Given the description of an element on the screen output the (x, y) to click on. 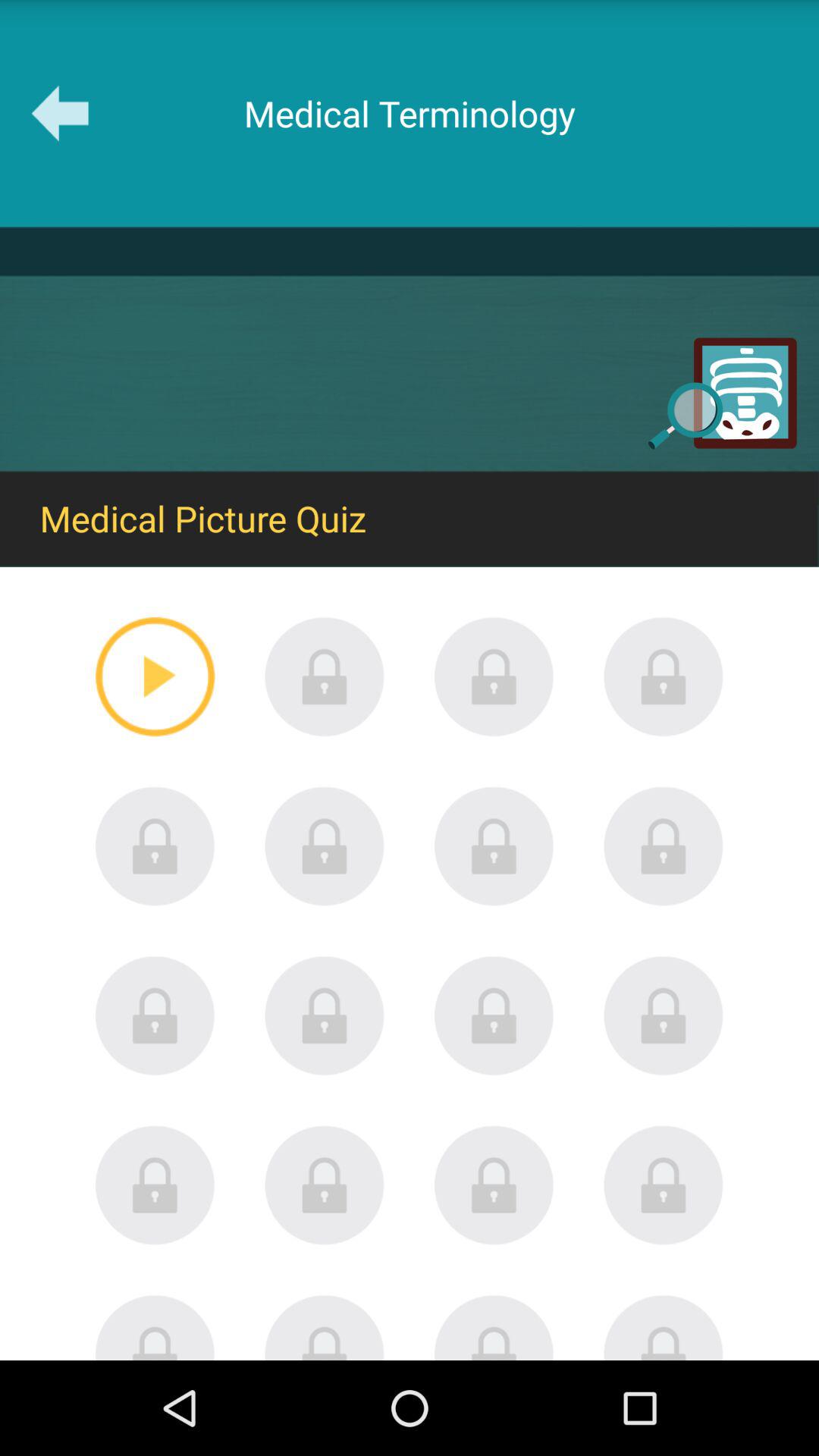
locked button icon (324, 1184)
